Given the description of an element on the screen output the (x, y) to click on. 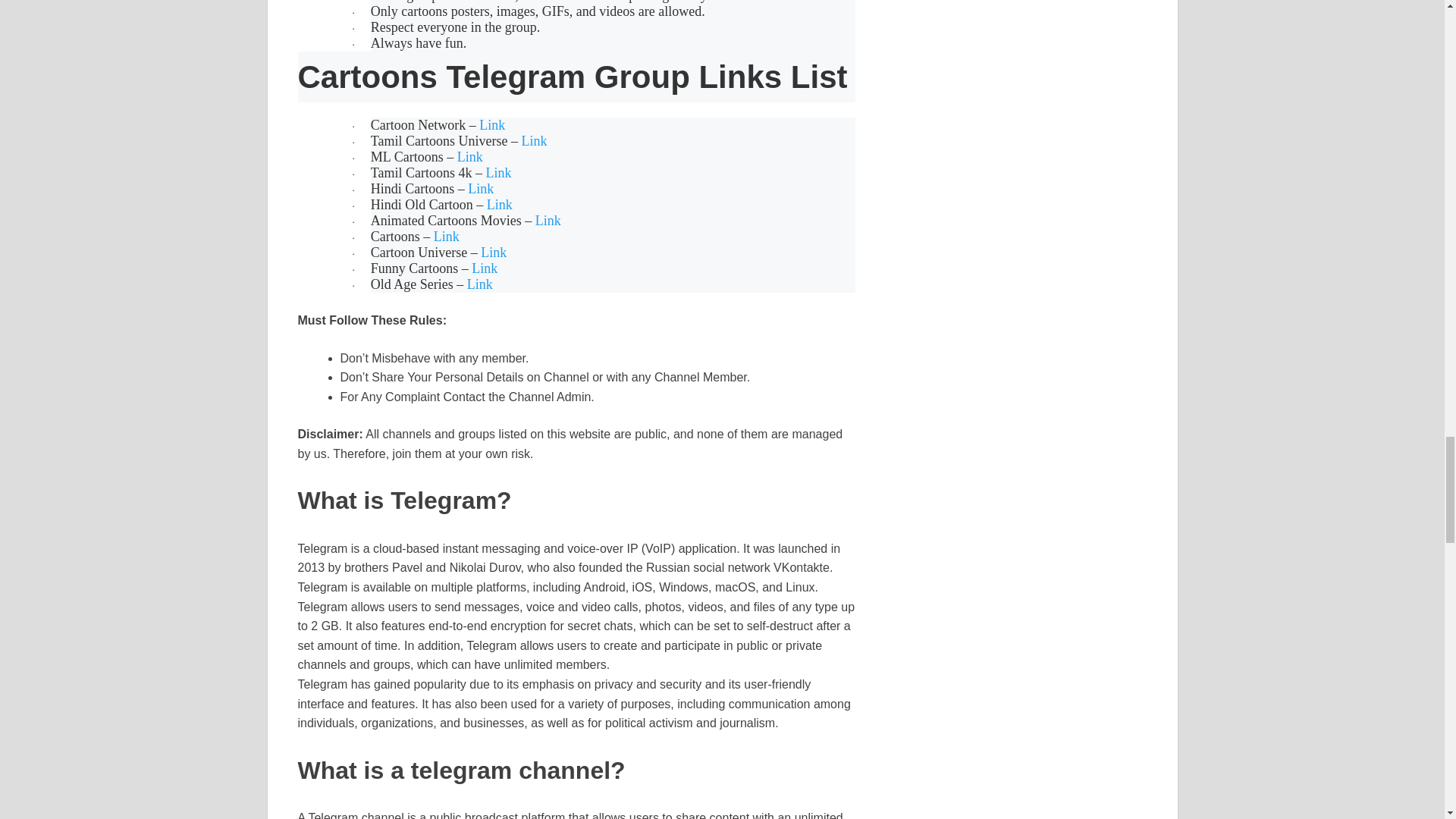
Link (484, 268)
Link (470, 156)
Link (499, 205)
Link (480, 188)
Link (492, 124)
Link (534, 141)
Link (493, 252)
Link (480, 284)
Link (446, 236)
Link (547, 220)
Link (499, 173)
